Given the description of an element on the screen output the (x, y) to click on. 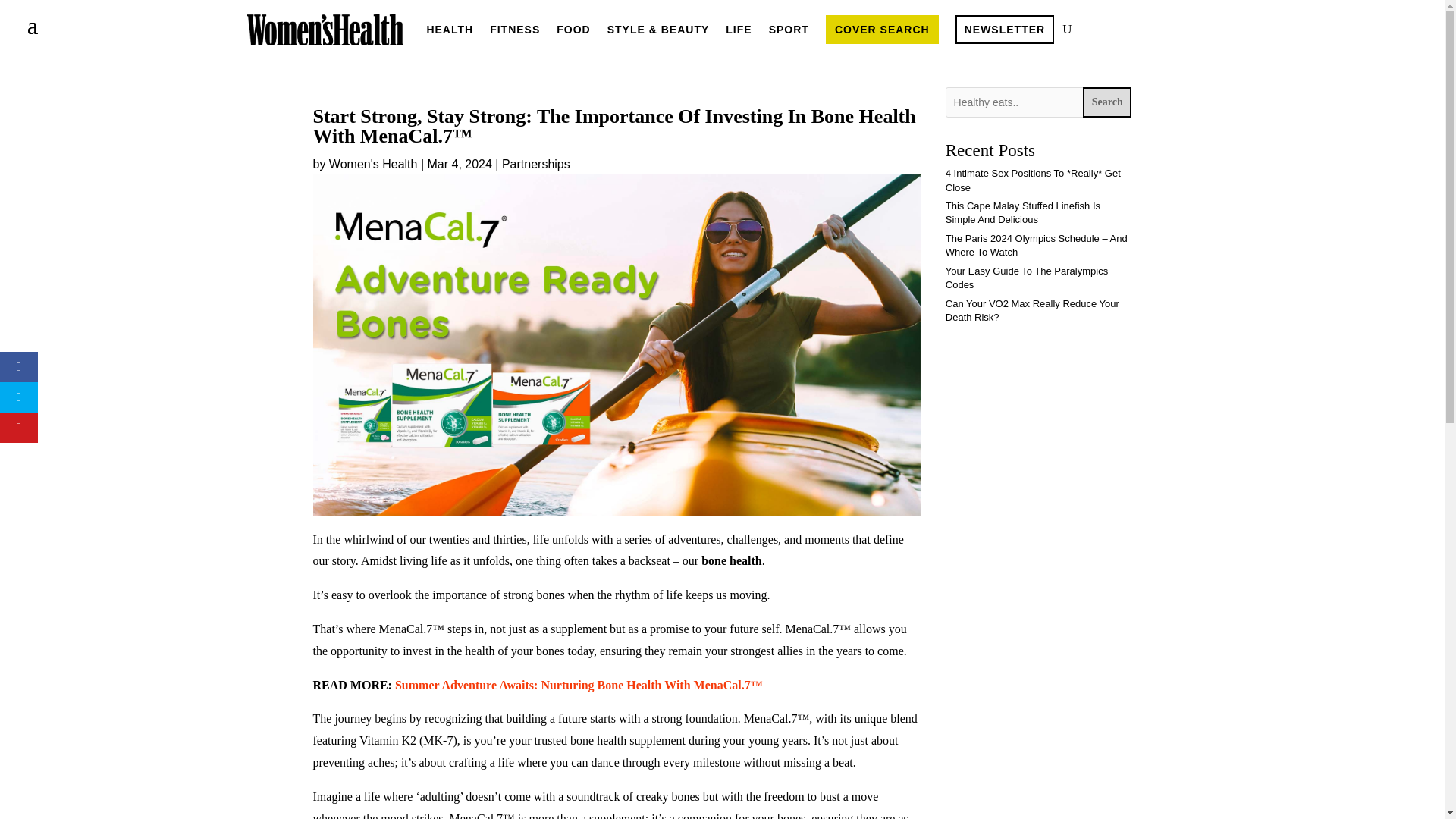
Posts by Women's Health (373, 164)
